Given the description of an element on the screen output the (x, y) to click on. 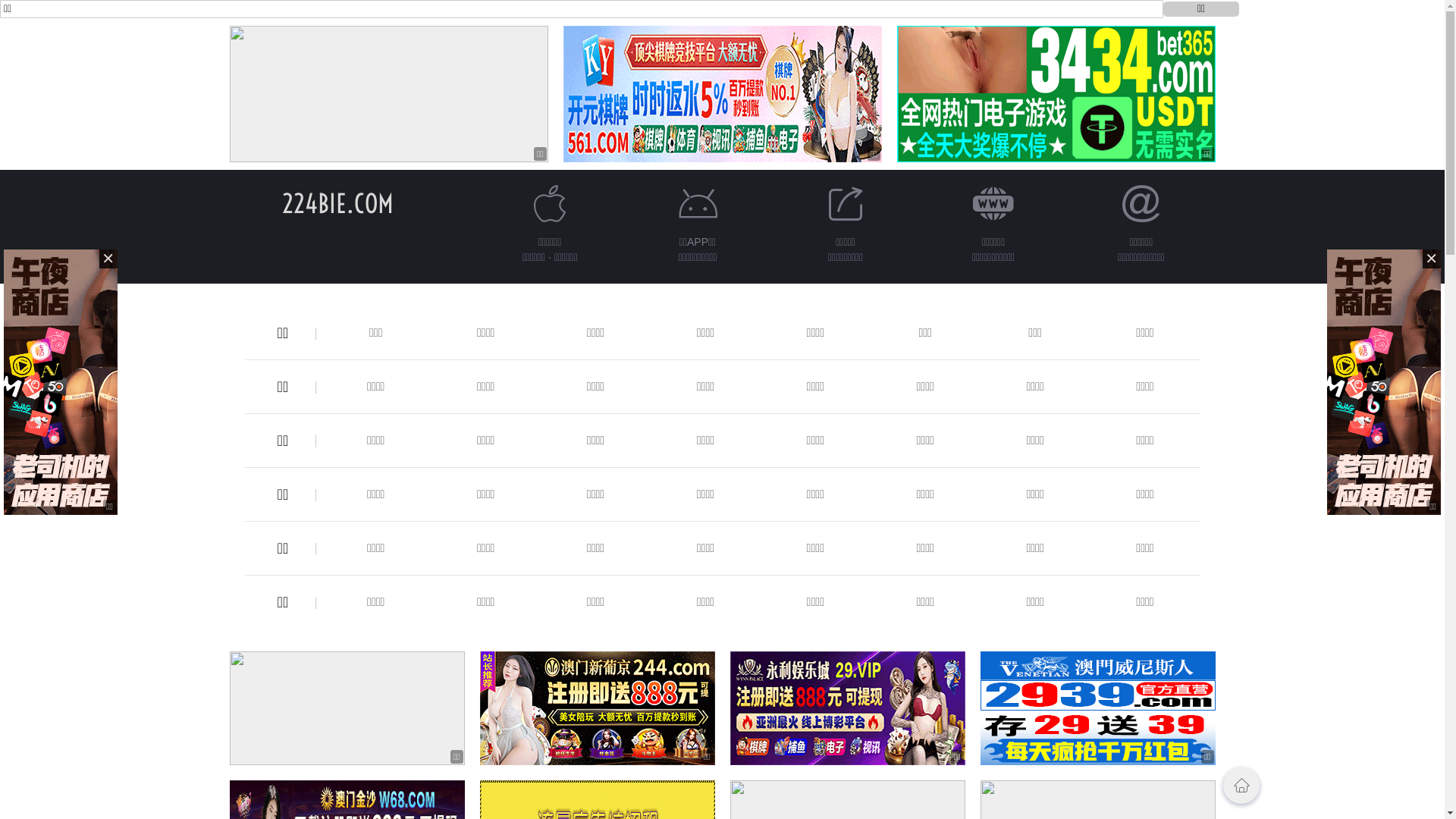
224BIE.COM Element type: text (337, 203)
